Given the description of an element on the screen output the (x, y) to click on. 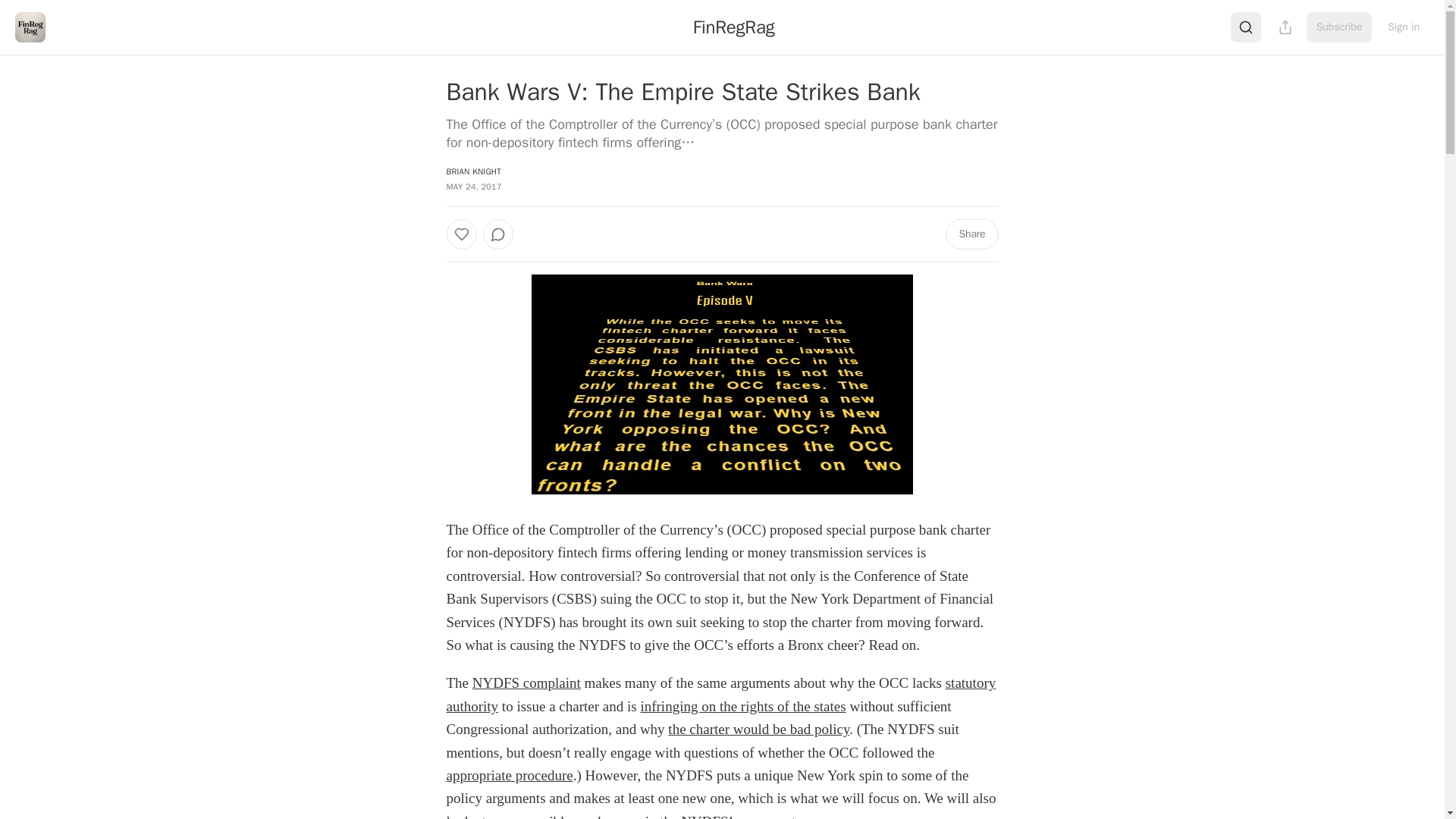
BRIAN KNIGHT (472, 171)
FinRegRag (733, 26)
NYDFS complaint (525, 682)
statutory authority (720, 693)
appropriate procedure (508, 774)
Share (970, 234)
Sign in (1403, 27)
infringing on the rights of the states (742, 706)
Subscribe (1339, 27)
the charter would be bad policy (758, 729)
